Given the description of an element on the screen output the (x, y) to click on. 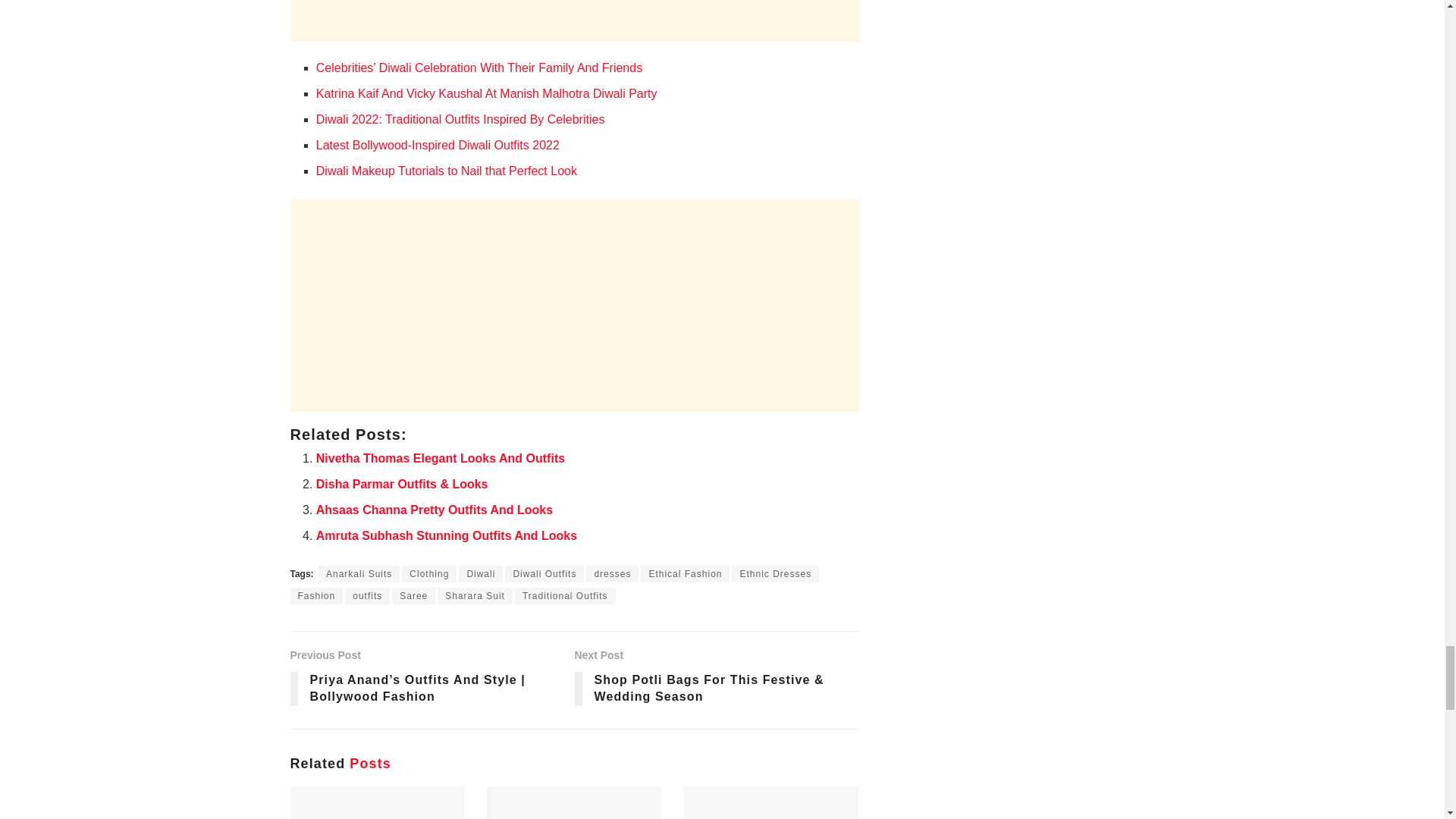
Amruta Subhash Stunning Outfits And Looks (445, 535)
Nivetha Thomas Elegant Looks And Outfits (439, 458)
Ahsaas Channa Pretty Outfits And Looks (434, 509)
